Given the description of an element on the screen output the (x, y) to click on. 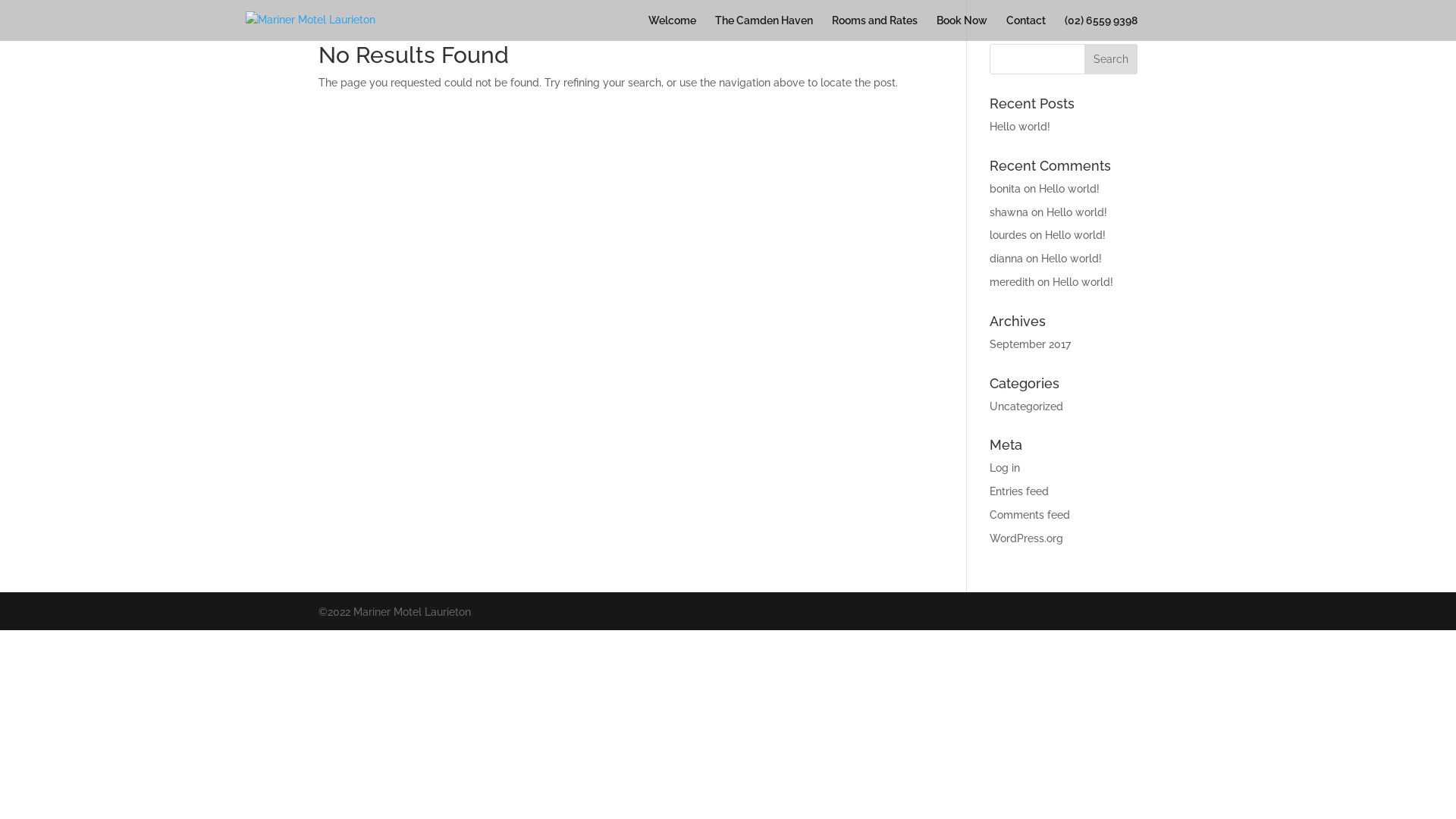
WordPress.org Element type: text (1026, 538)
lourdes Element type: text (1007, 235)
Hello world! Element type: text (1068, 188)
Entries feed Element type: text (1018, 491)
Hello world! Element type: text (1019, 126)
Uncategorized Element type: text (1026, 406)
meredith Element type: text (1011, 282)
Search Element type: text (1110, 58)
Book Now Element type: text (961, 27)
Hello world! Element type: text (1074, 235)
Comments feed Element type: text (1029, 514)
Hello world! Element type: text (1076, 212)
Hello world! Element type: text (1082, 282)
The Camden Haven Element type: text (763, 27)
(02) 6559 9398 Element type: text (1100, 27)
dianna Element type: text (1005, 258)
bonita Element type: text (1004, 188)
Log in Element type: text (1004, 467)
Rooms and Rates Element type: text (874, 27)
shawna Element type: text (1008, 212)
September 2017 Element type: text (1029, 344)
Hello world! Element type: text (1071, 258)
Contact Element type: text (1025, 27)
Welcome Element type: text (672, 27)
